Given the description of an element on the screen output the (x, y) to click on. 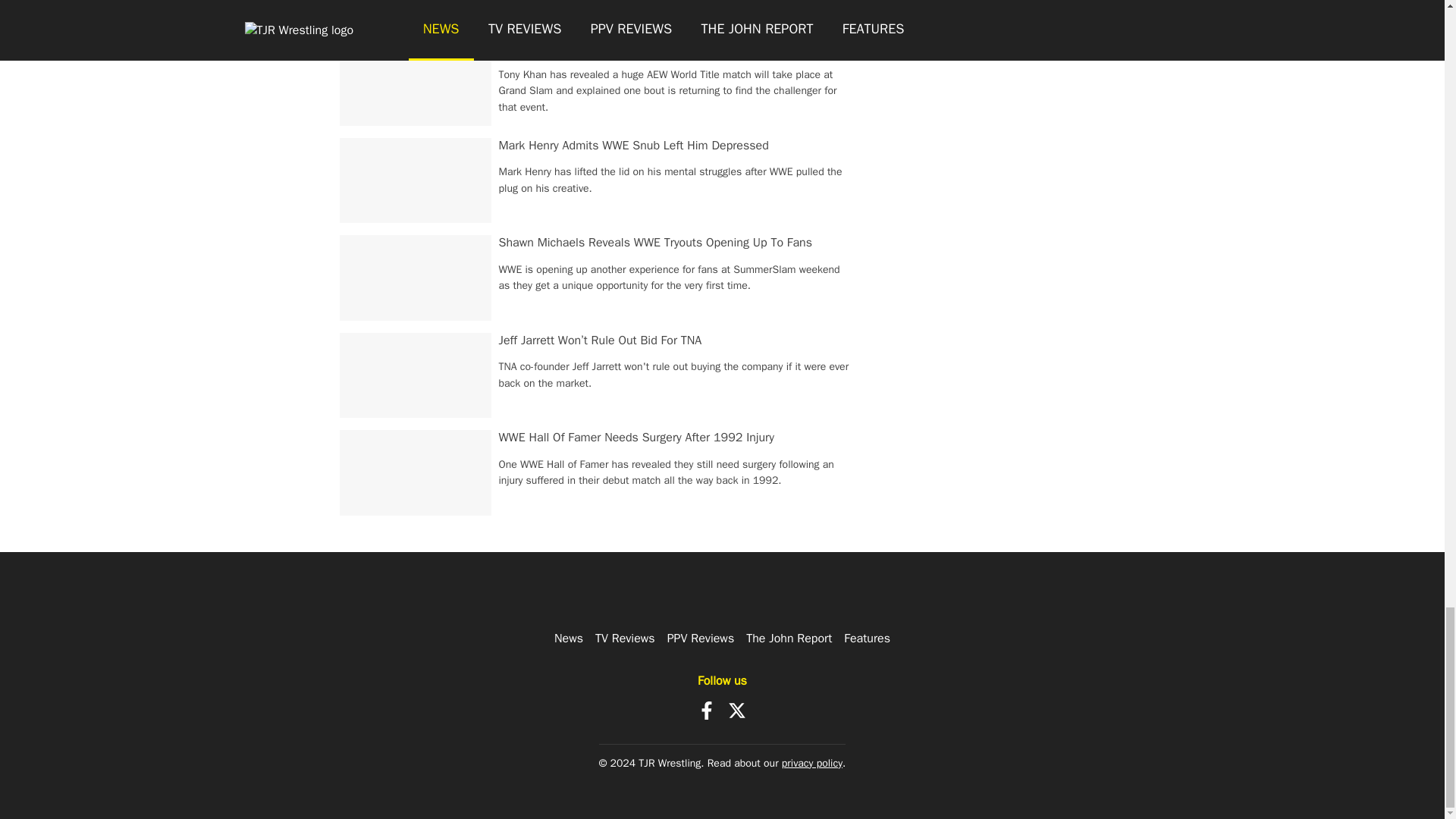
WWE Hall Of Famer Needs Surgery After 1992 Injury (636, 437)
X (736, 710)
Shawn Michaels Reveals WWE Tryouts Opening Up To Fans (655, 242)
AEW World Title Plans For Grand Slam Revealed (625, 47)
Facebook (706, 710)
Mark Henry Admits WWE Snub Left Him Depressed (633, 145)
